Given the description of an element on the screen output the (x, y) to click on. 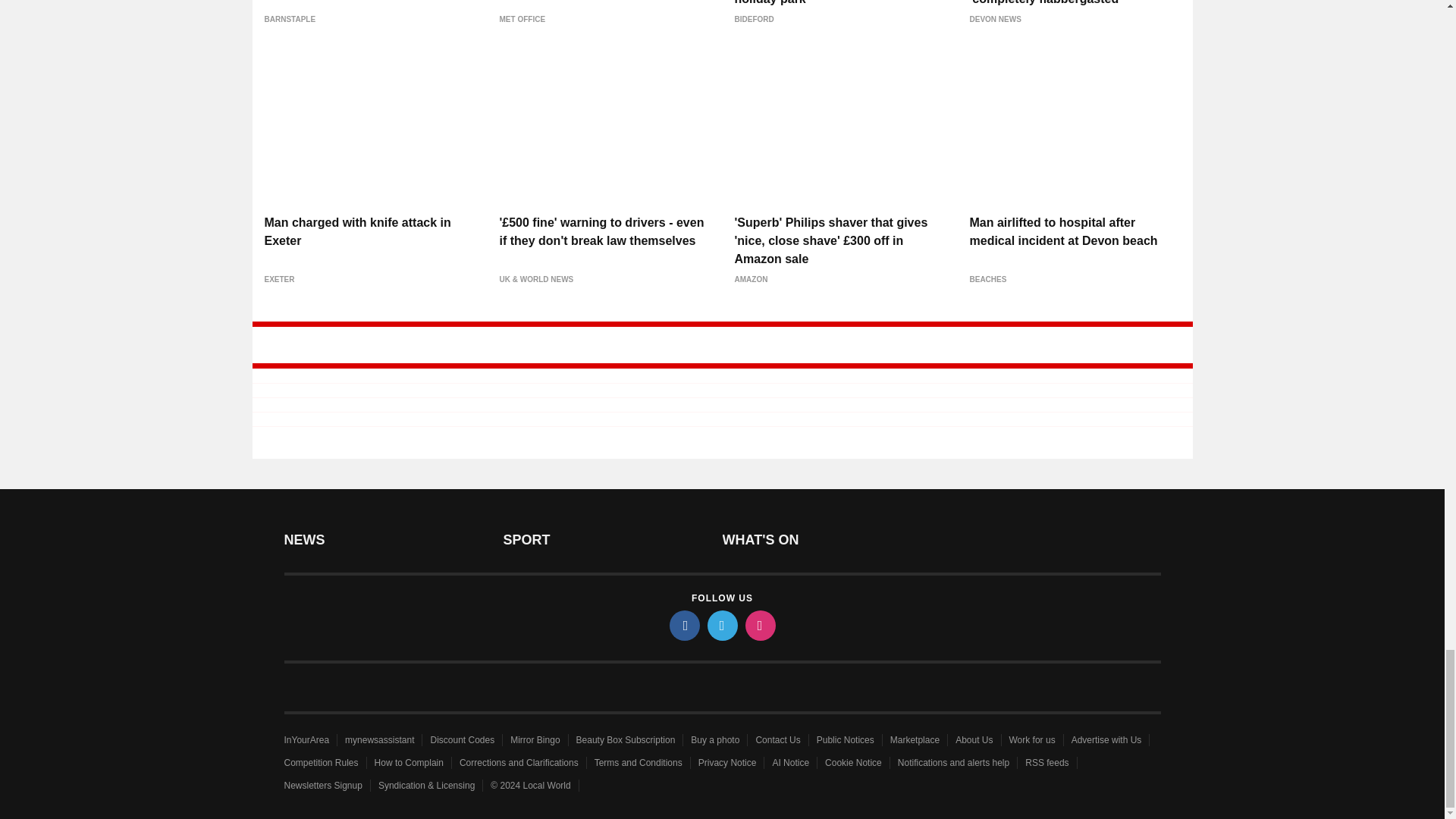
twitter (721, 625)
facebook (683, 625)
instagram (759, 625)
